Given the description of an element on the screen output the (x, y) to click on. 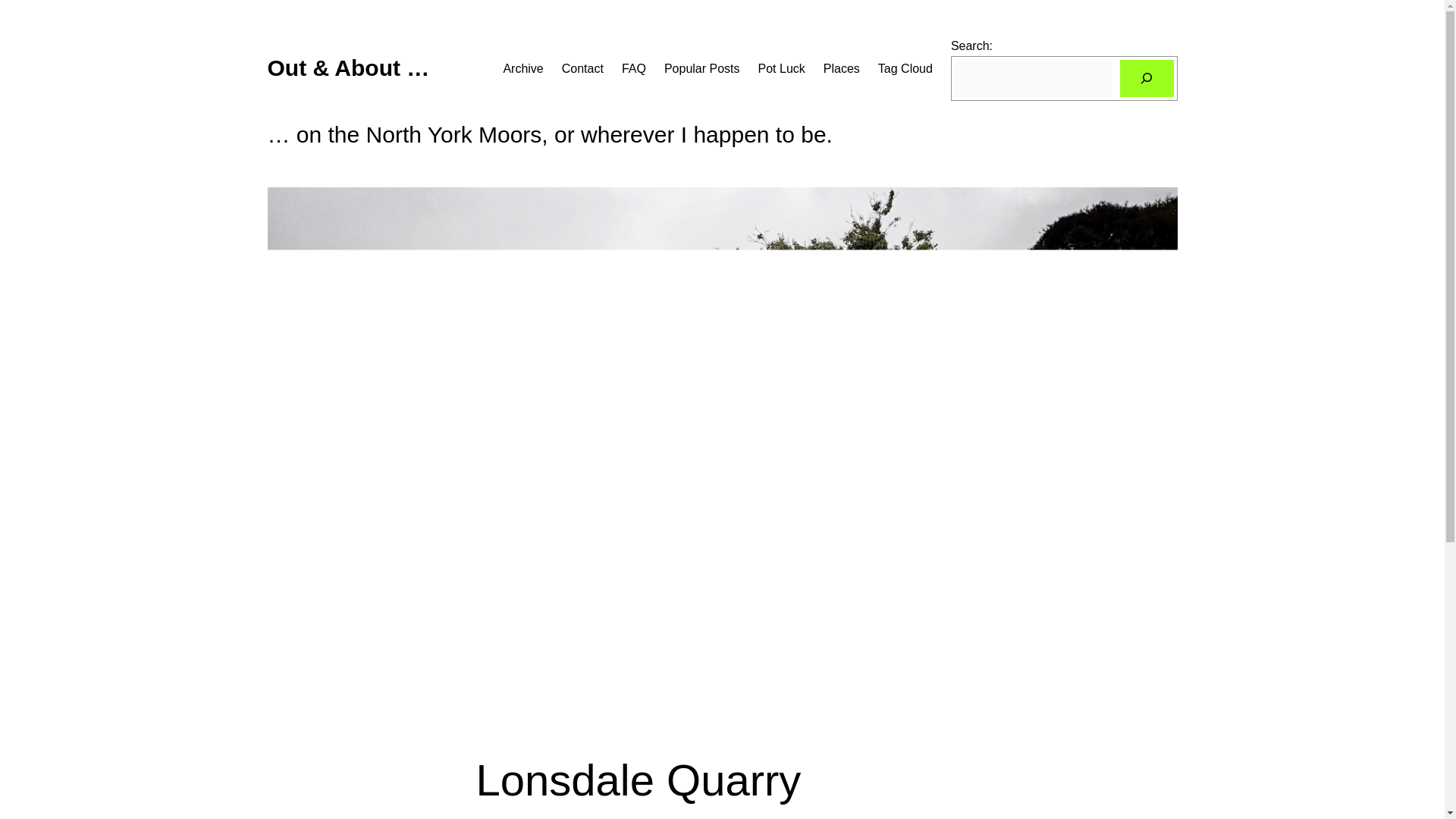
FAQ (633, 68)
Contact (583, 68)
Archive (522, 68)
Tag Cloud (905, 68)
Popular Posts (701, 68)
Places (842, 68)
Pot Luck (781, 68)
